Given the description of an element on the screen output the (x, y) to click on. 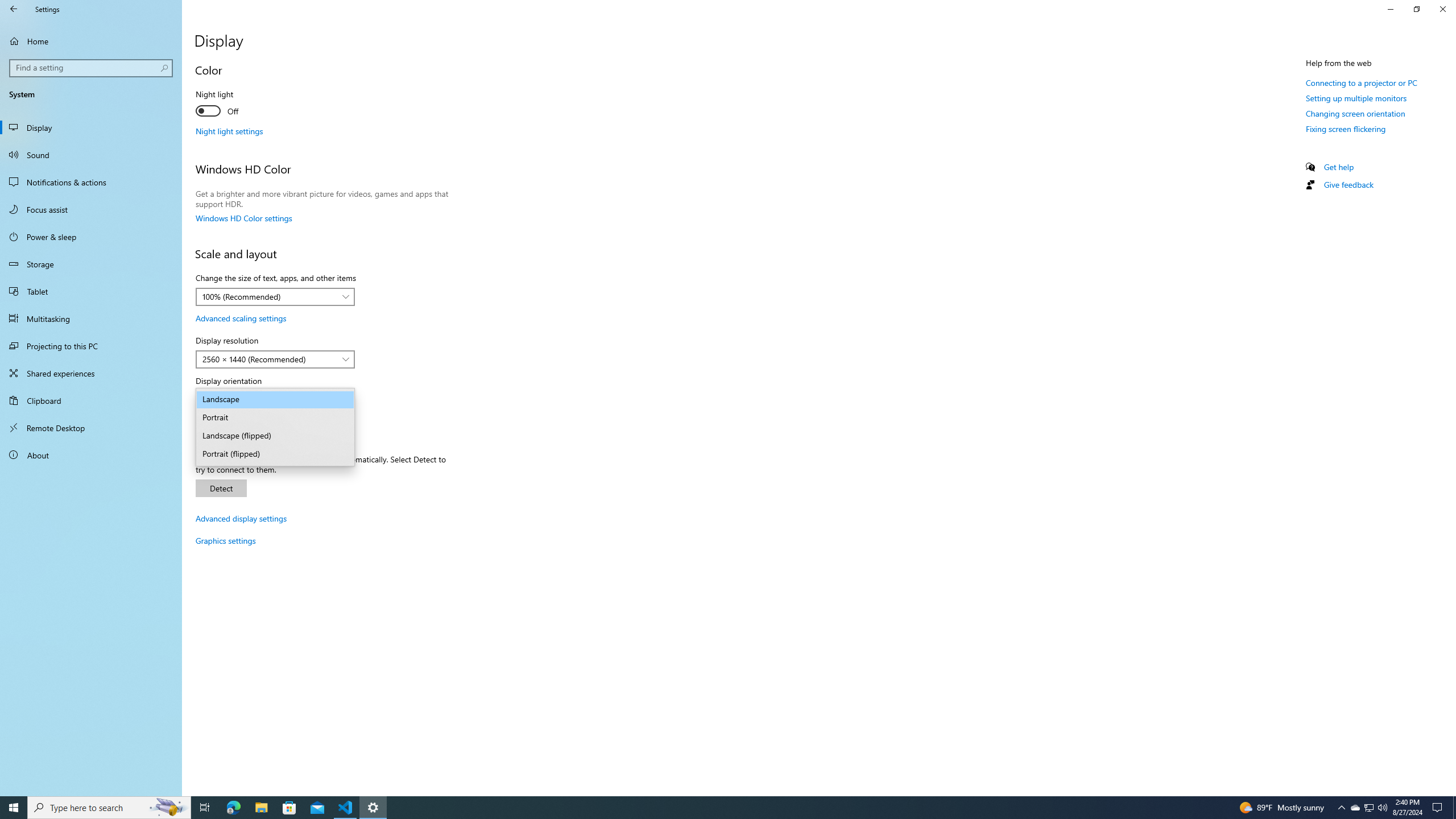
100% (Recommended) (269, 296)
Detect (221, 488)
Landscape (flipped) (274, 436)
Change the size of text, apps, and other items (275, 296)
Portrait (flipped) (274, 454)
Search highlights icon opens search home window (167, 807)
Type here to search (108, 807)
Q2790: 100% (1382, 807)
Projecting to this PC (91, 345)
Home (91, 40)
Landscape (274, 399)
Night light (237, 104)
Microsoft Store (289, 807)
Fixing screen flickering (1346, 128)
